Given the description of an element on the screen output the (x, y) to click on. 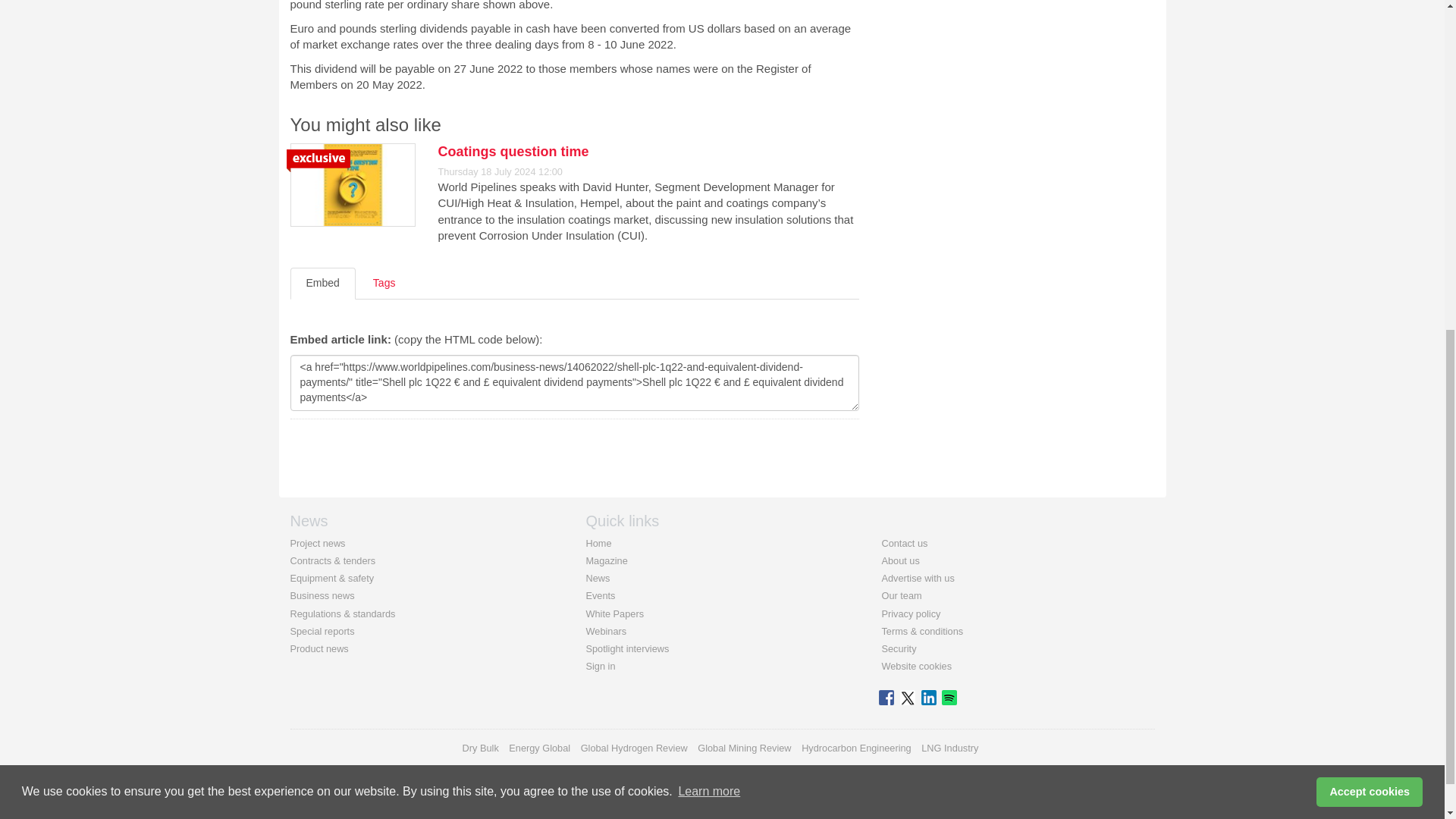
3rd party ad content (1035, 349)
Accept cookies (1369, 215)
Learn more (708, 215)
Tags (384, 283)
Coatings question time (513, 151)
3rd party ad content (1035, 140)
Embed (322, 283)
3rd party ad content (1035, 13)
